Given the description of an element on the screen output the (x, y) to click on. 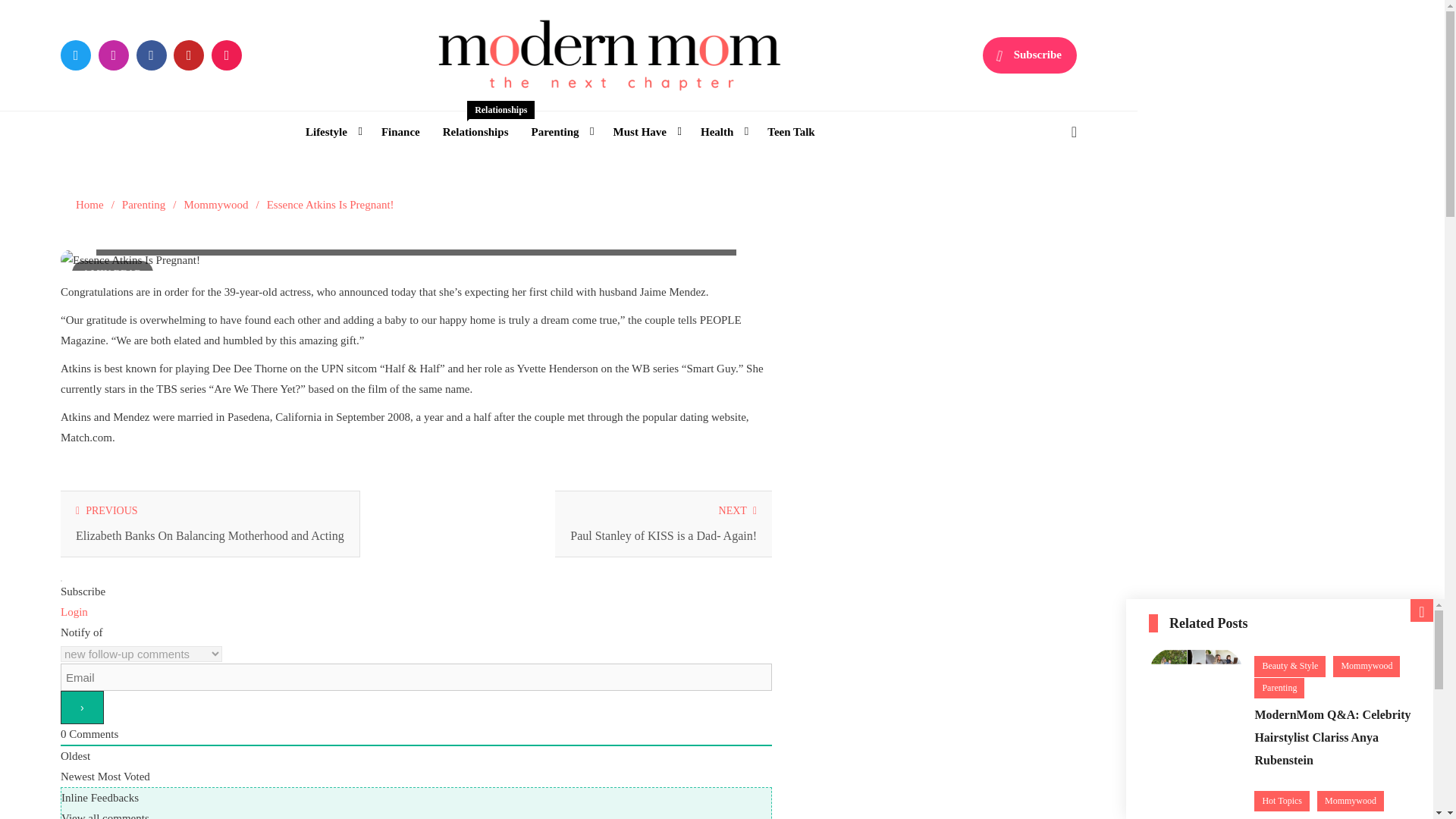
Teen Talk (790, 132)
Must Have (645, 132)
Finance (399, 132)
Parenting (560, 132)
Subscribe (474, 132)
Home (1029, 54)
ModernMom (89, 204)
Search (494, 115)
Health (1034, 195)
